Given the description of an element on the screen output the (x, y) to click on. 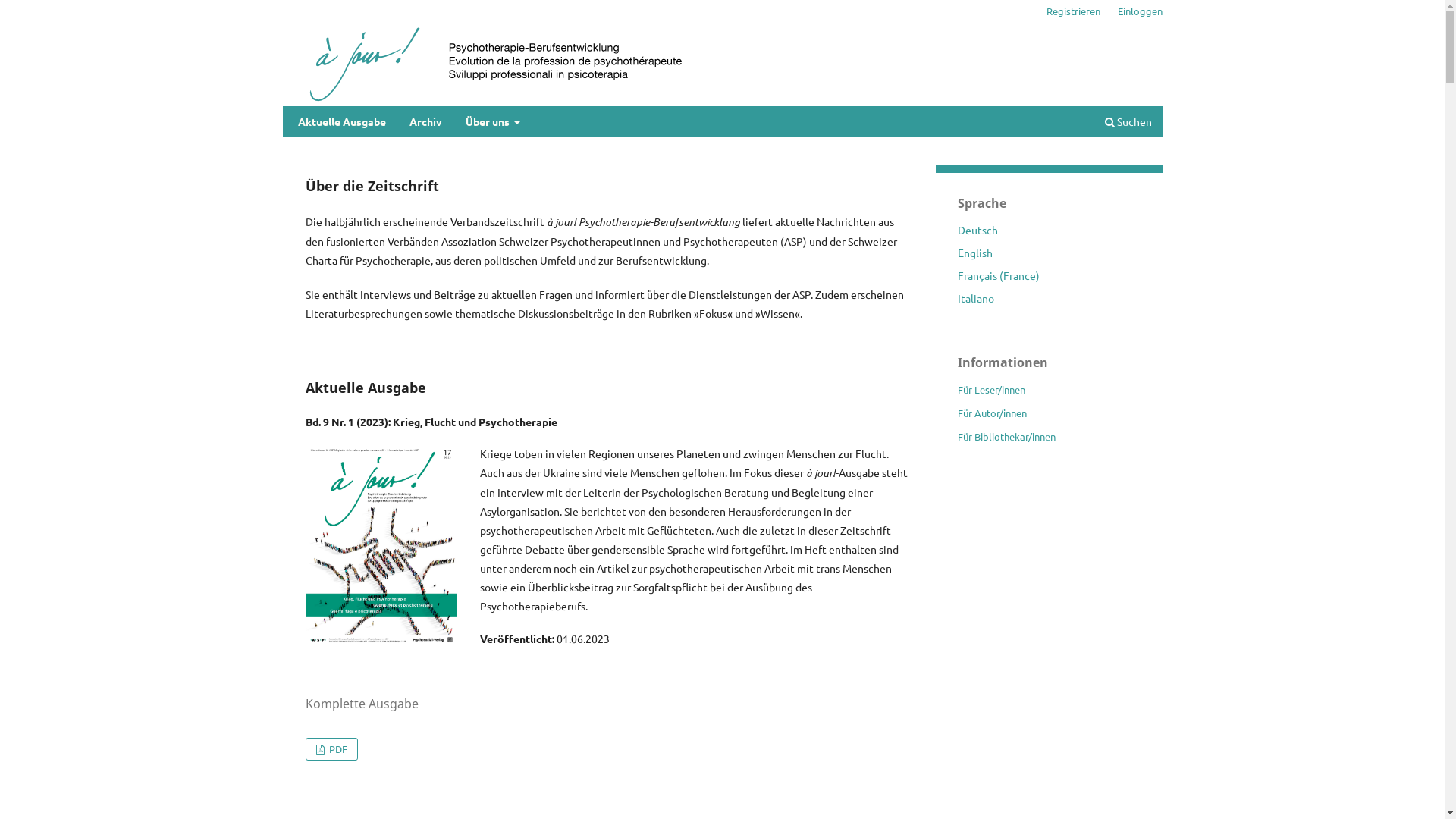
Italiano Element type: text (975, 297)
Einloggen Element type: text (1140, 11)
Archiv Element type: text (425, 122)
Aktuelle Ausgabe Element type: text (341, 122)
Deutsch Element type: text (977, 229)
Registrieren Element type: text (1072, 11)
Suchen Element type: text (1128, 122)
English Element type: text (974, 252)
PDF Element type: text (330, 748)
